Given the description of an element on the screen output the (x, y) to click on. 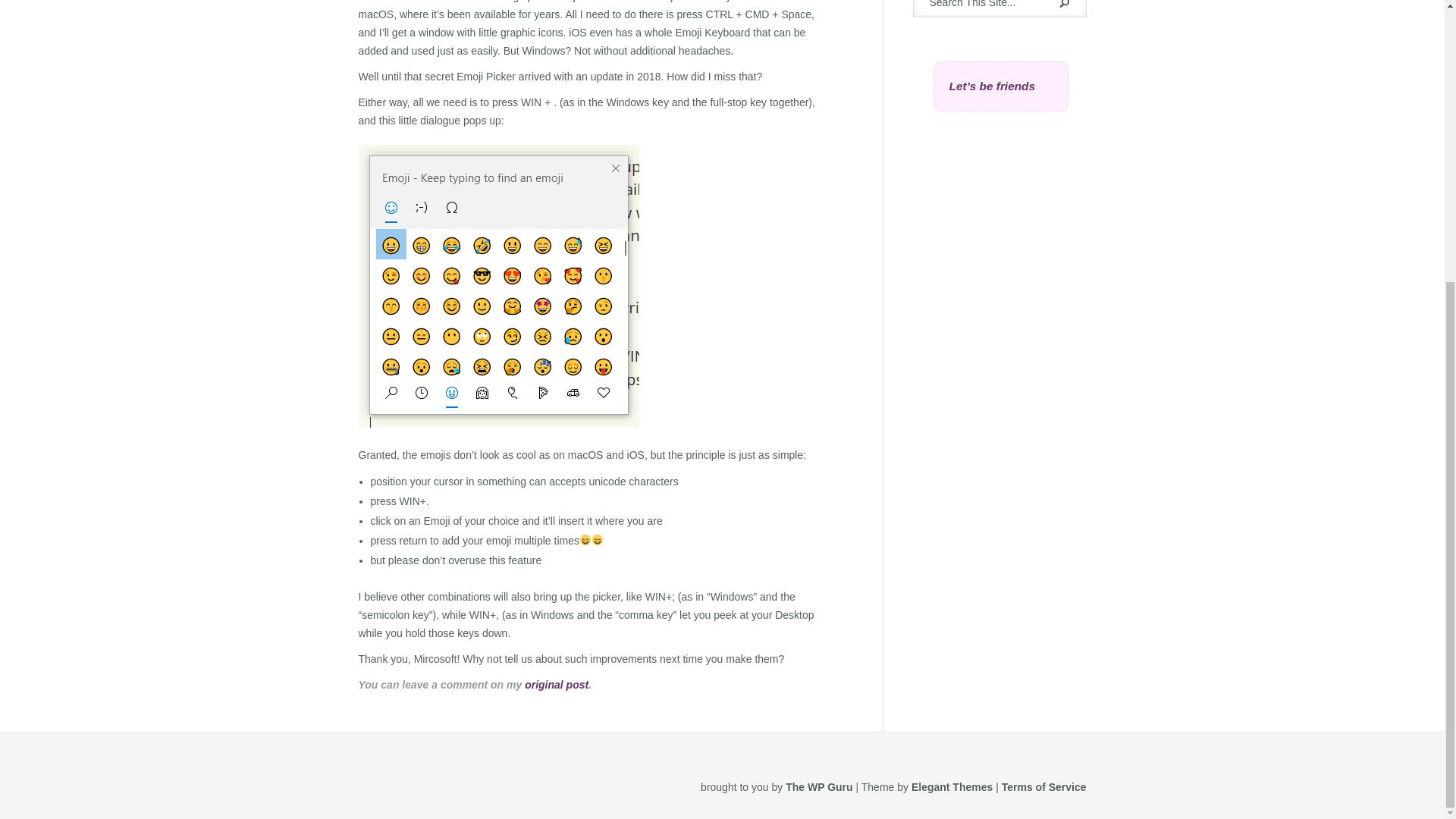
Search This Site... (983, 4)
Terms of Service (1043, 787)
The WP Guru (818, 787)
original post (556, 684)
Elegant Themes (951, 787)
